Given the description of an element on the screen output the (x, y) to click on. 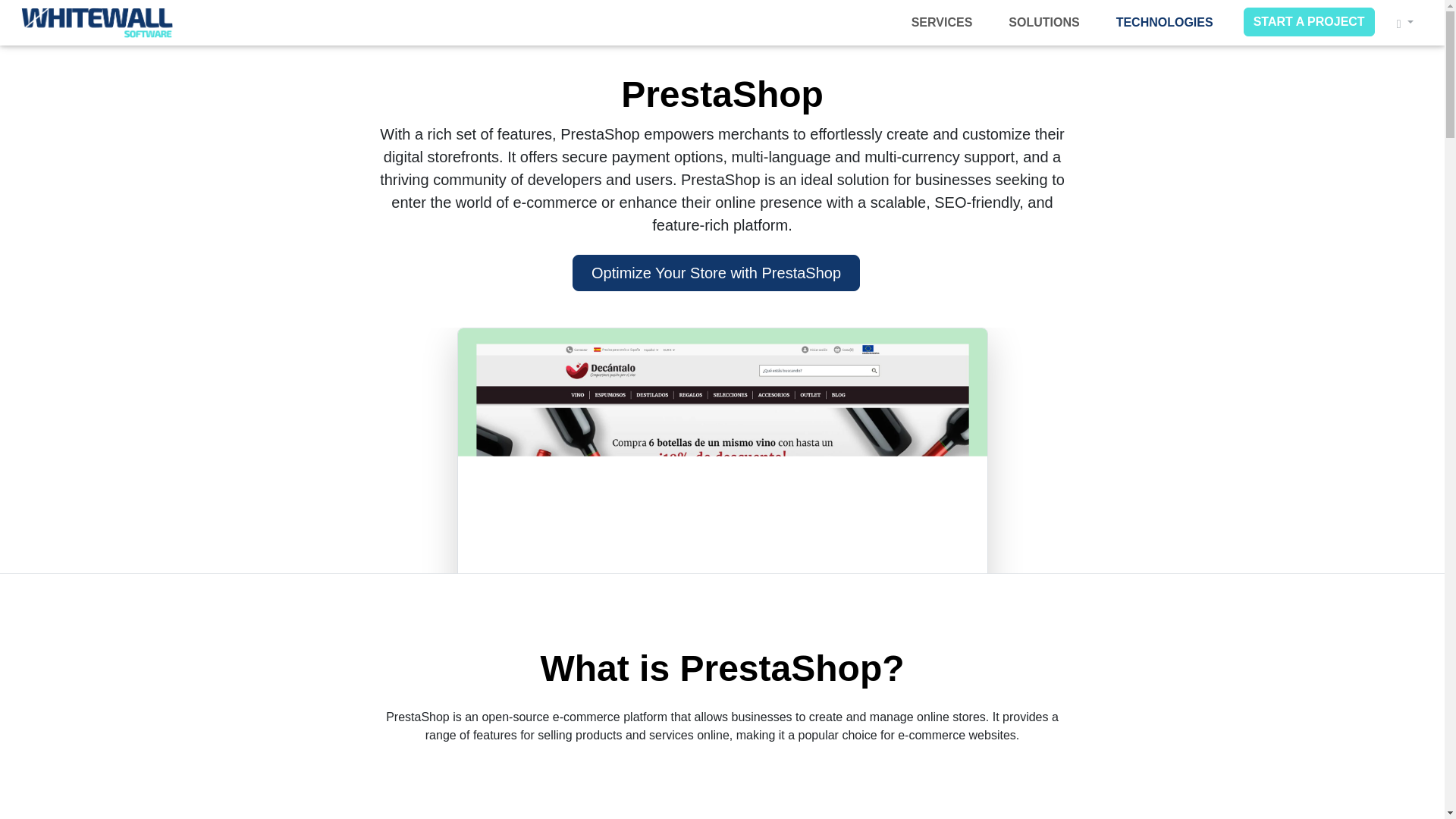
Optimize Your Store with PrestaShop (716, 272)
SOLUTIONS (1043, 22)
START A PROJECT (1308, 21)
SERVICES (941, 22)
TECHNOLOGIES (1164, 22)
